Given the description of an element on the screen output the (x, y) to click on. 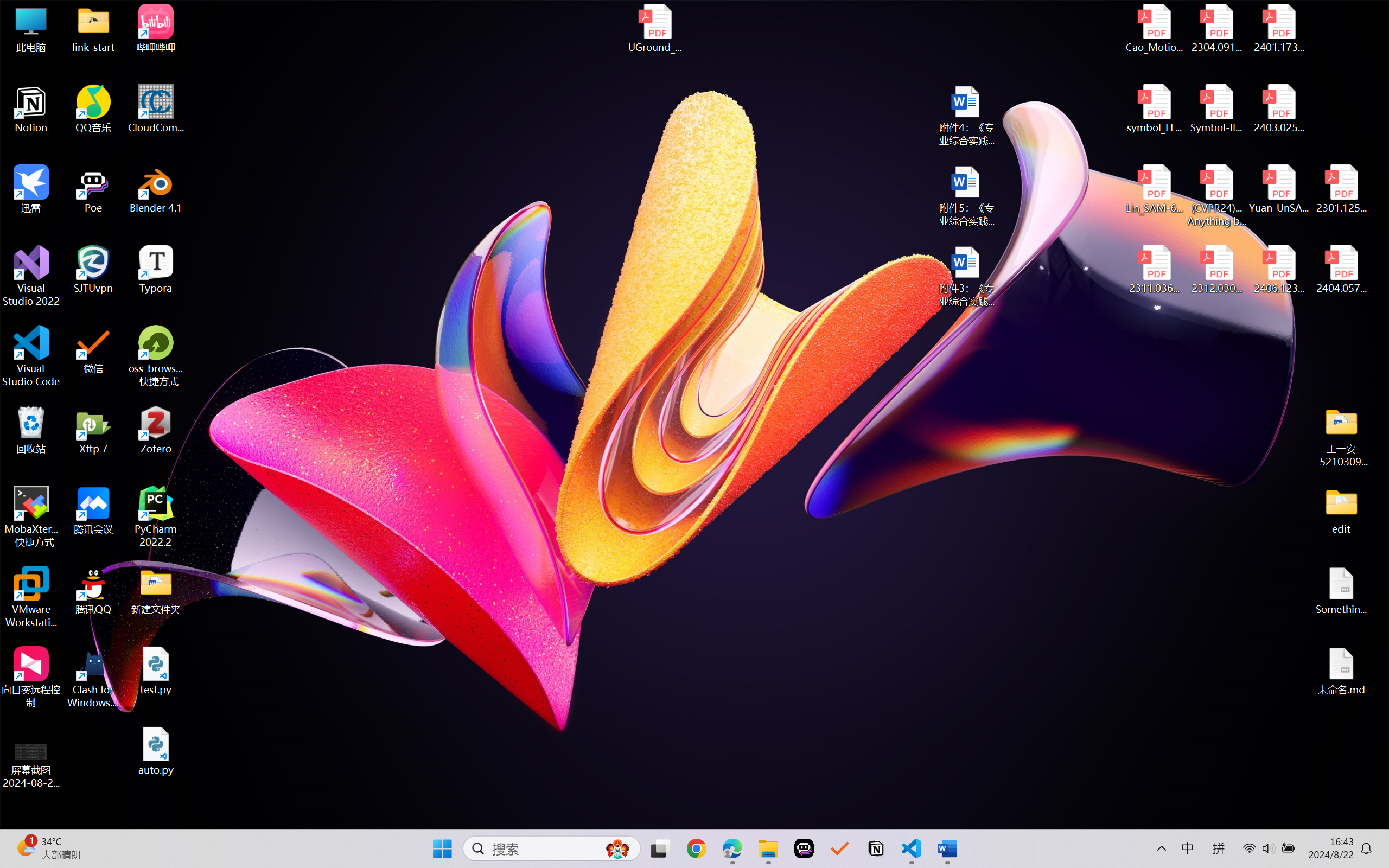
Google Chrome (696, 848)
auto.py (156, 751)
Something.md (1340, 591)
2311.03658v2.pdf (1154, 269)
(CVPR24)Matching Anything by Segmenting Anything.pdf (1216, 195)
edit (1340, 510)
2403.02502v1.pdf (1278, 109)
